Given the description of an element on the screen output the (x, y) to click on. 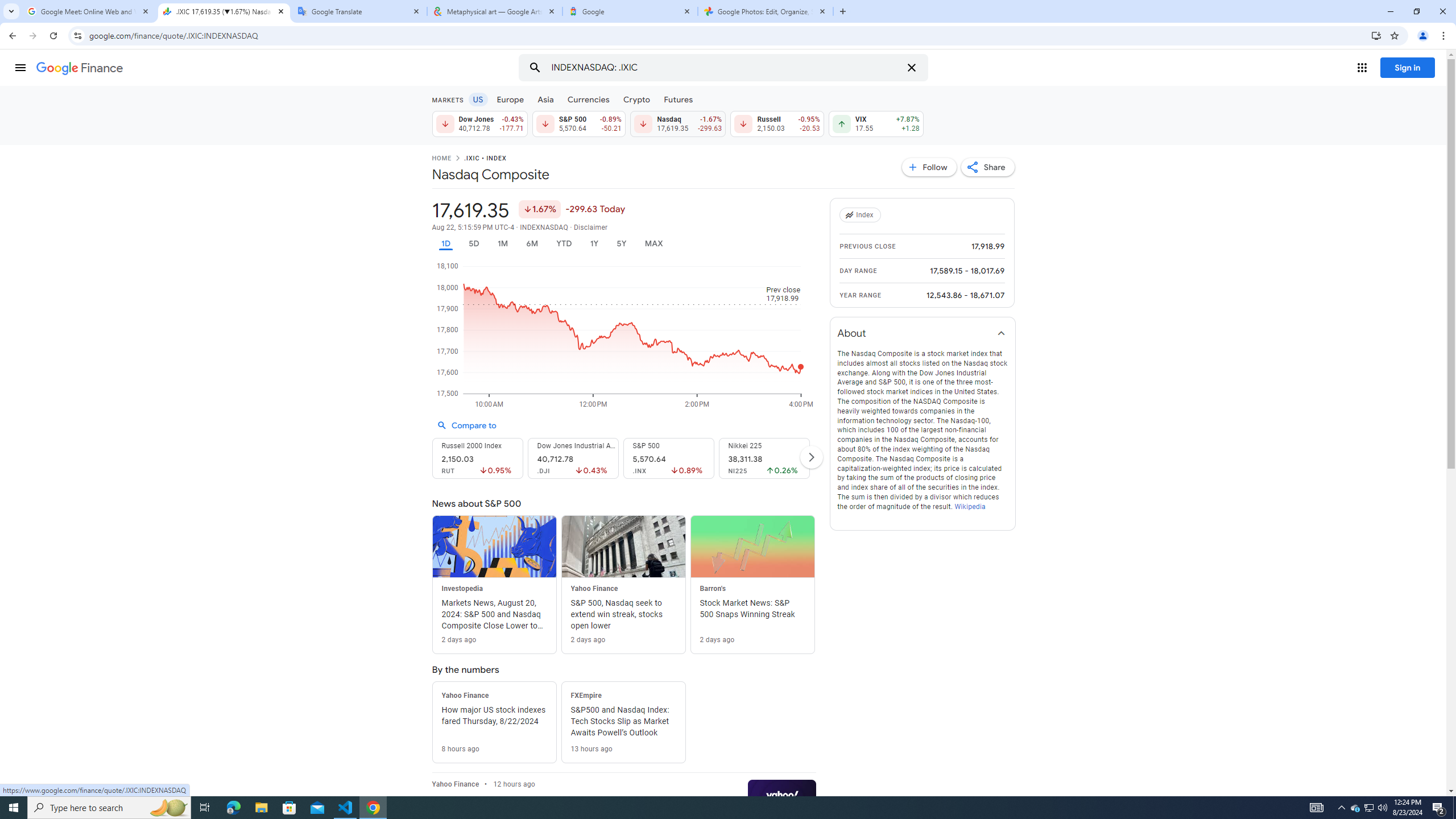
5Y (621, 243)
Clear search (911, 67)
Main menu (20, 67)
6M (531, 243)
VIX 17.55 Up by 7.87% +1.28 (875, 123)
Nasdaq 17,619.35 Down by 1.67% -299.63 (678, 123)
About (923, 332)
